Given the description of an element on the screen output the (x, y) to click on. 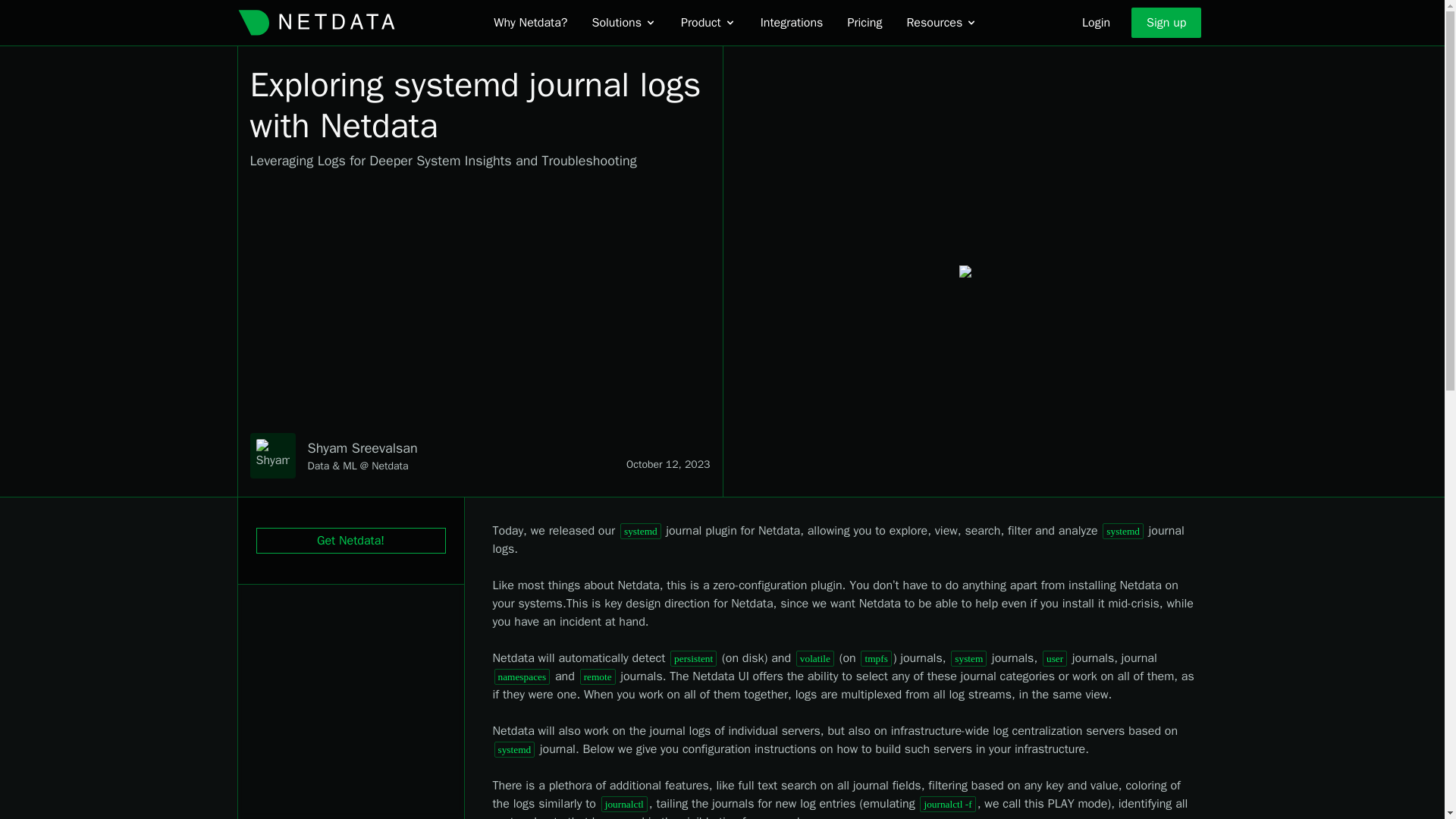
Product (708, 22)
Sign up (1166, 22)
Pricing (864, 22)
Resources (940, 22)
Solutions (623, 22)
Why Netdata? (530, 22)
Login (1096, 22)
Integrations (792, 22)
